Given the description of an element on the screen output the (x, y) to click on. 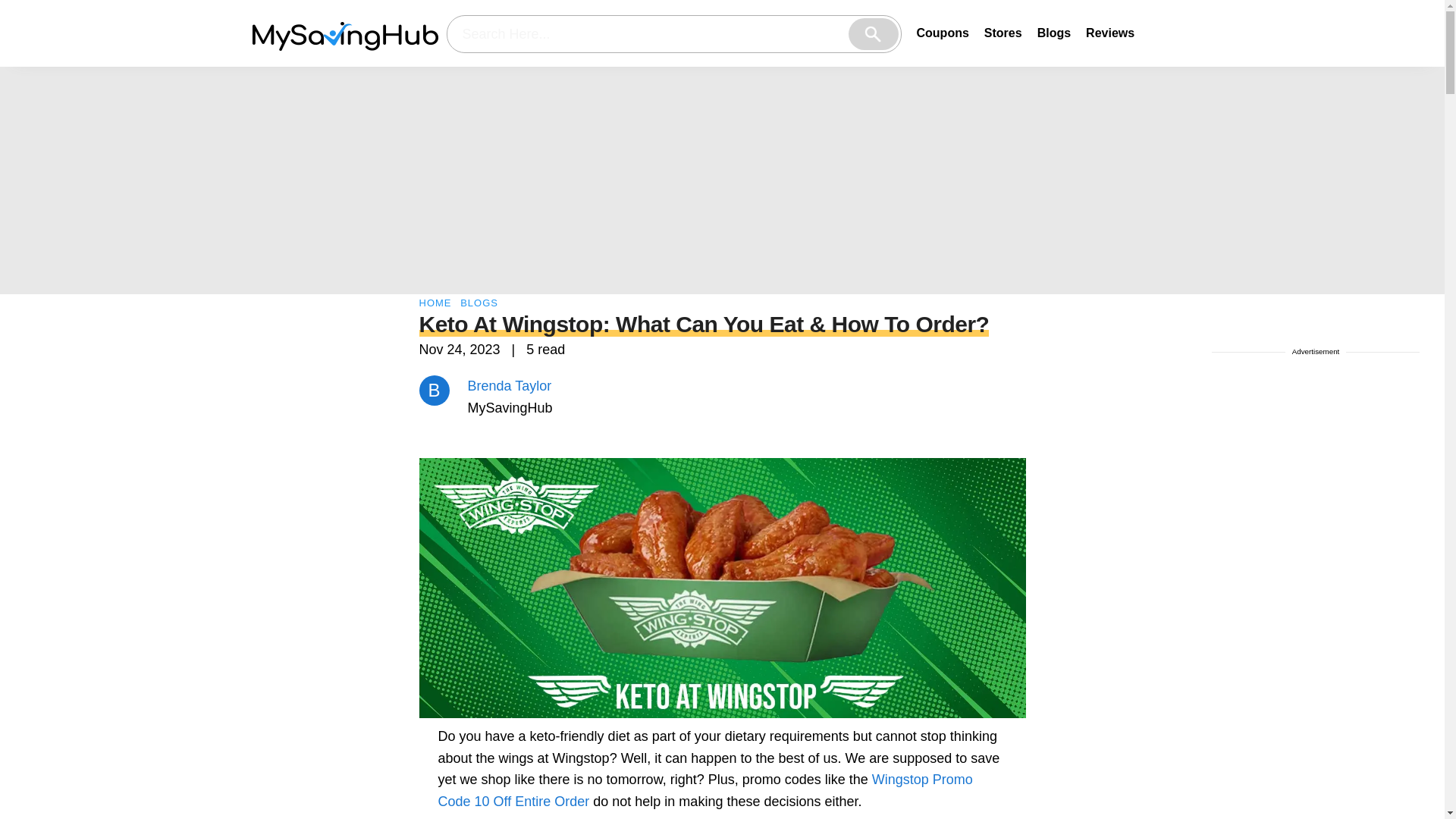
Wingstop Promo Code 10 Off Entire Order (705, 790)
Brenda Taylor (509, 385)
BLOGS (478, 302)
Blogs (1053, 32)
MySavingHub HOME PAGE (344, 33)
HOME (435, 302)
Reviews (1110, 32)
Stores (1003, 32)
Coupons (941, 32)
